Given the description of an element on the screen output the (x, y) to click on. 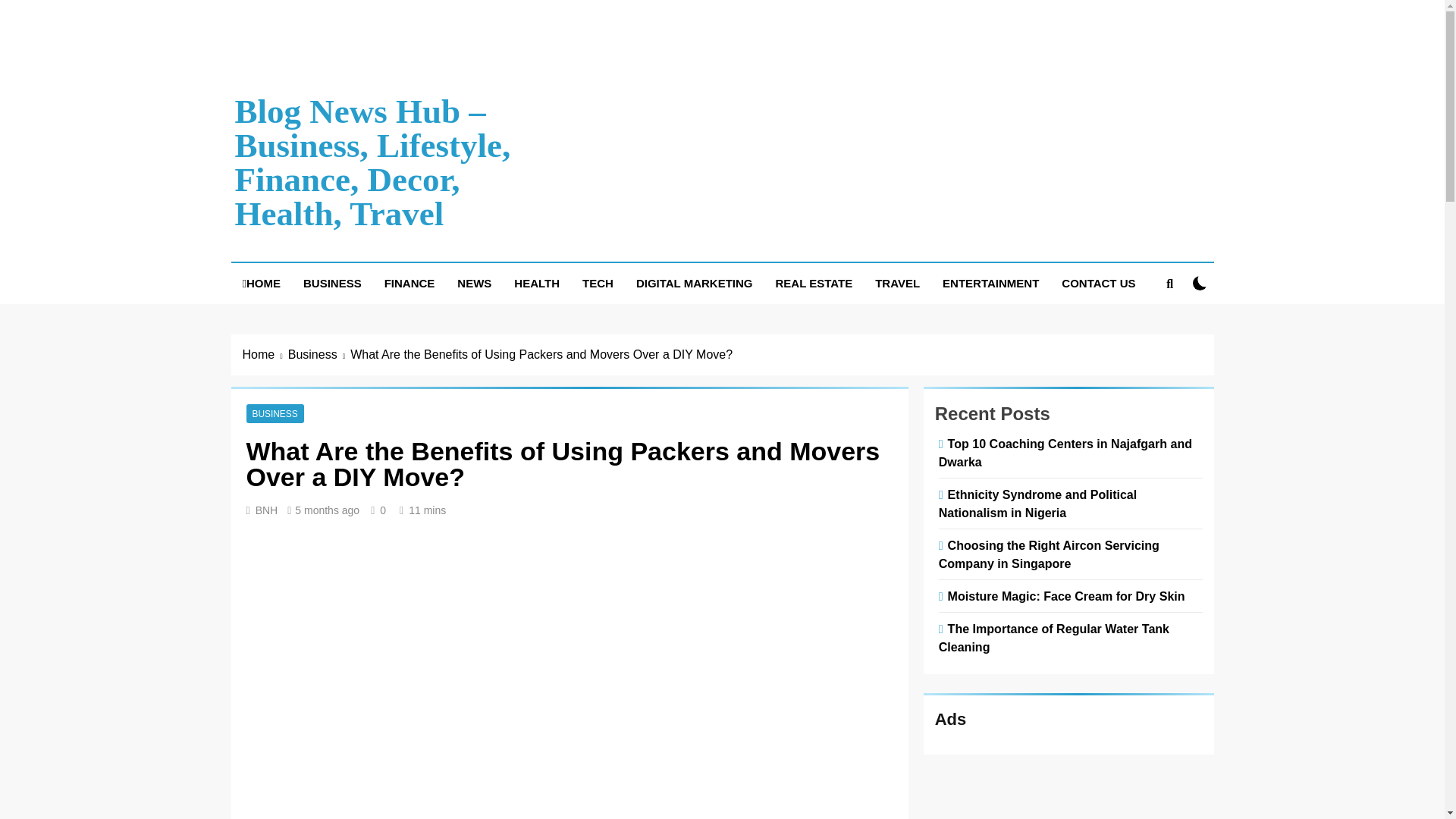
DIGITAL MARKETING (694, 282)
on (1199, 283)
BUSINESS (274, 412)
REAL ESTATE (814, 282)
HEALTH (536, 282)
ENTERTAINMENT (990, 282)
FINANCE (409, 282)
5 months ago (327, 510)
Top 10 Coaching Centers in Najafgarh and Dwarka (1065, 452)
Home (265, 354)
BUSINESS (332, 282)
CONTACT US (1098, 282)
Business (319, 354)
TRAVEL (897, 282)
HOME (260, 282)
